Given the description of an element on the screen output the (x, y) to click on. 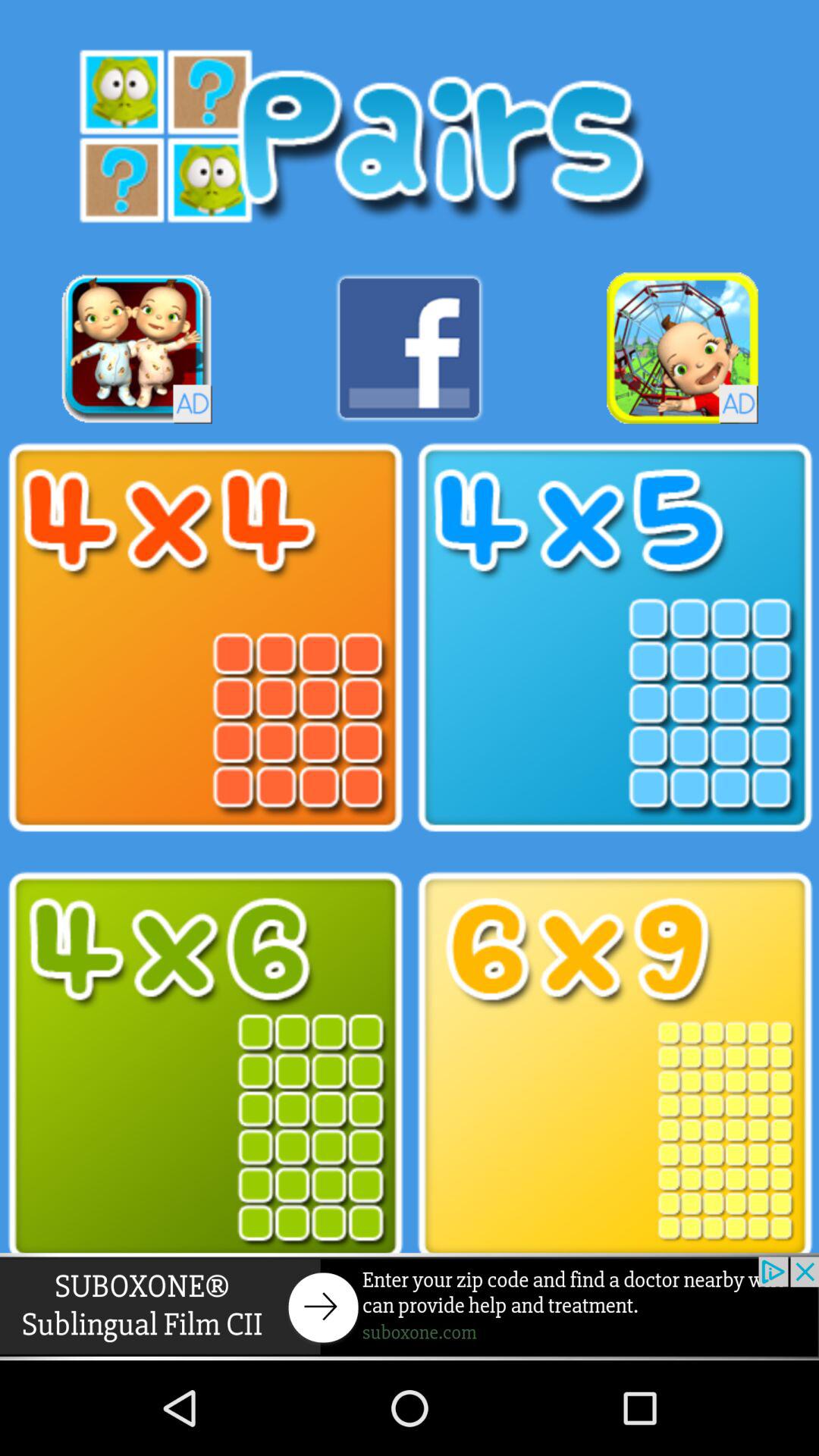
open login to facebook (409, 347)
